Given the description of an element on the screen output the (x, y) to click on. 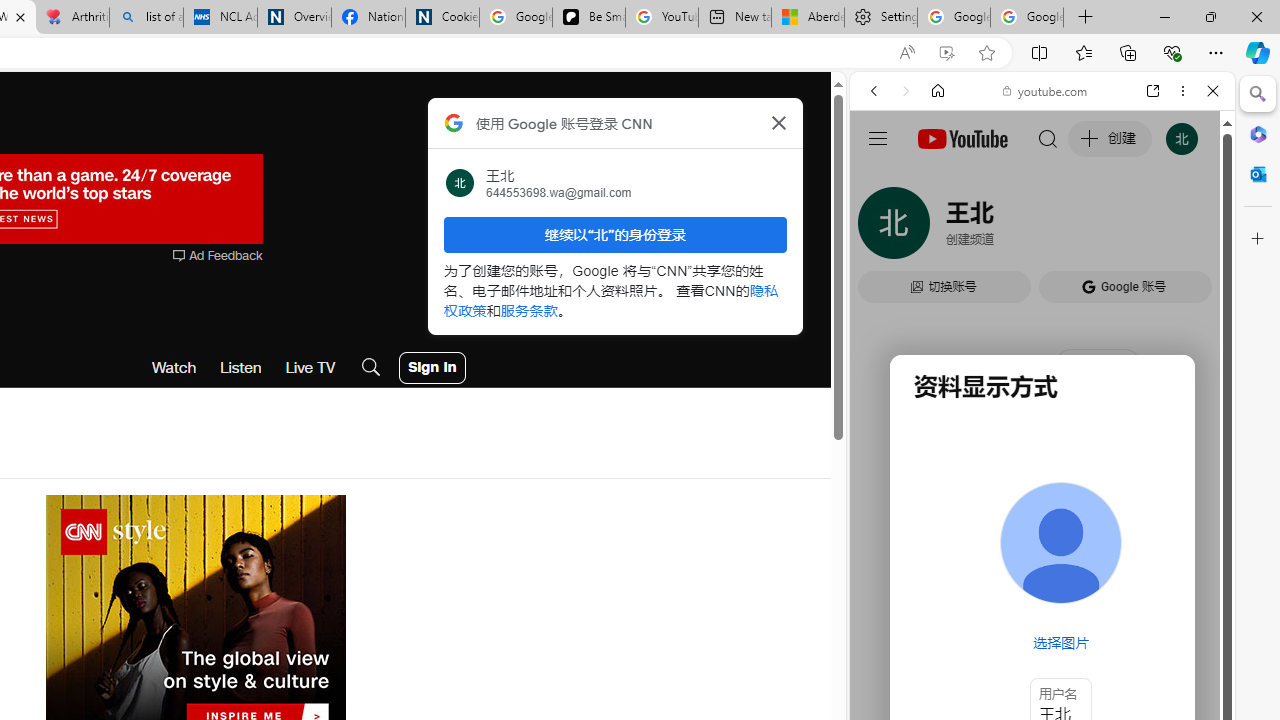
YouTube (1034, 296)
Search Filter, VIDEOS (1006, 228)
Watch (174, 367)
